Given the description of an element on the screen output the (x, y) to click on. 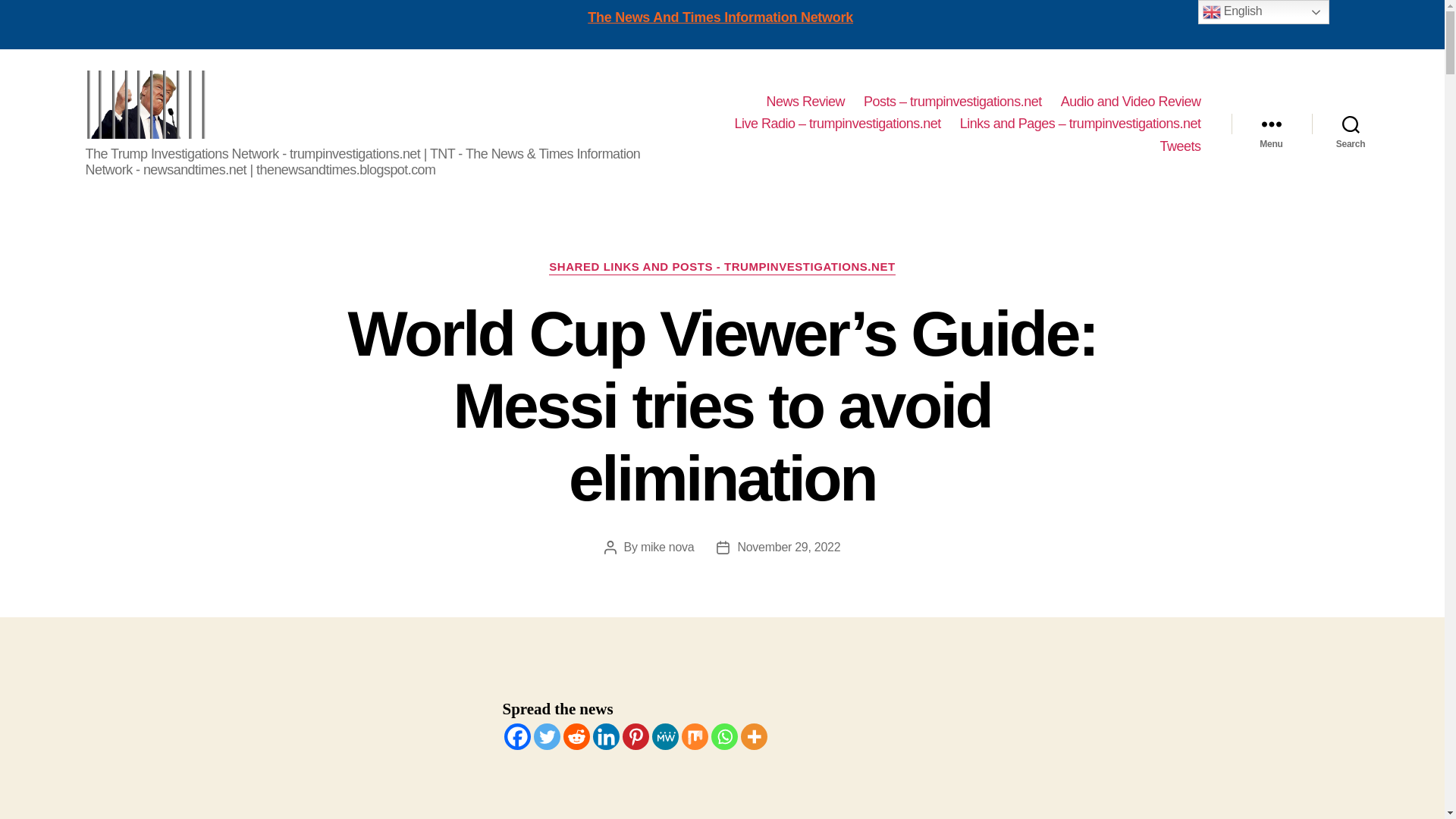
Linkedin (606, 736)
Mix (694, 736)
Search (1350, 123)
Facebook (516, 736)
Tweets (1178, 146)
Menu (1271, 123)
Reddit (575, 736)
SHARED LINKS AND POSTS - TRUMPINVESTIGATIONS.NET (721, 267)
News Review (804, 102)
More (753, 736)
The News And Times Information Network (720, 17)
Whatsapp (724, 736)
November 29, 2022 (788, 546)
MeWe (665, 736)
mike nova (667, 546)
